Given the description of an element on the screen output the (x, y) to click on. 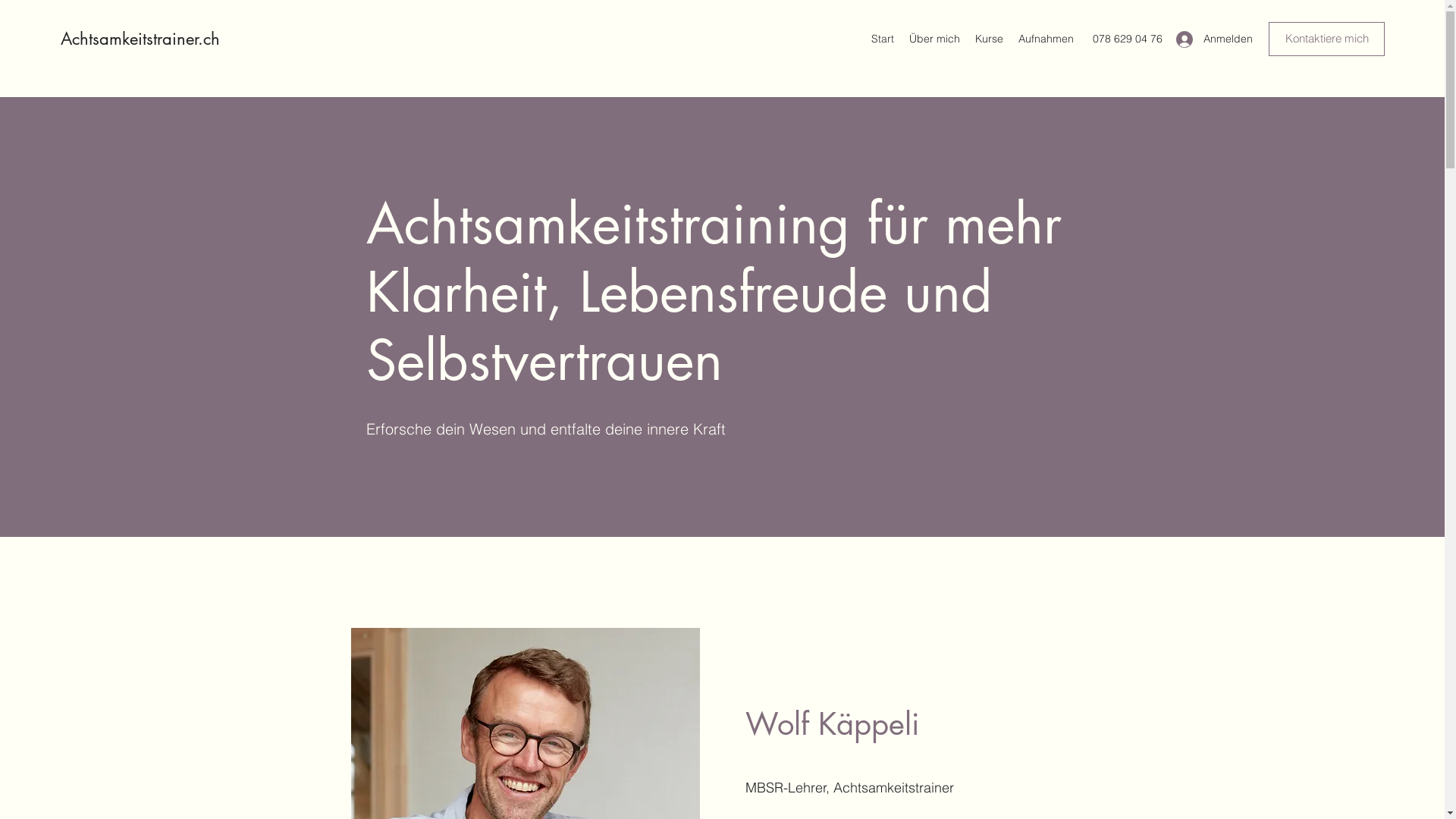
Aufnahmen Element type: text (1045, 38)
Kontaktiere mich Element type: text (1326, 38)
Anmelden Element type: text (1206, 39)
Achtsamkeitstrainer.ch Element type: text (139, 38)
Start Element type: text (882, 38)
